Given the description of an element on the screen output the (x, y) to click on. 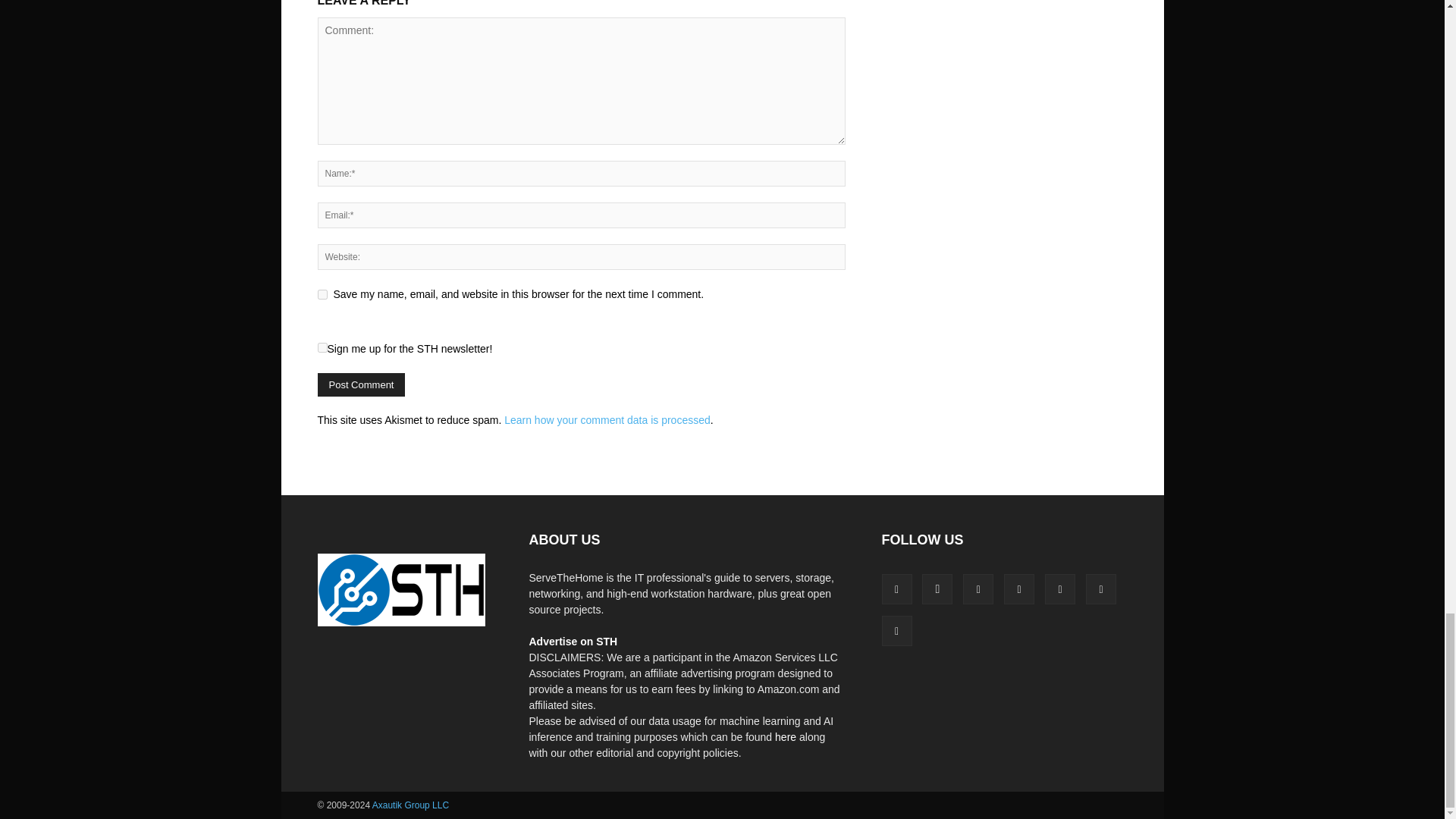
1 (321, 347)
Post Comment (360, 384)
yes (321, 294)
